Given the description of an element on the screen output the (x, y) to click on. 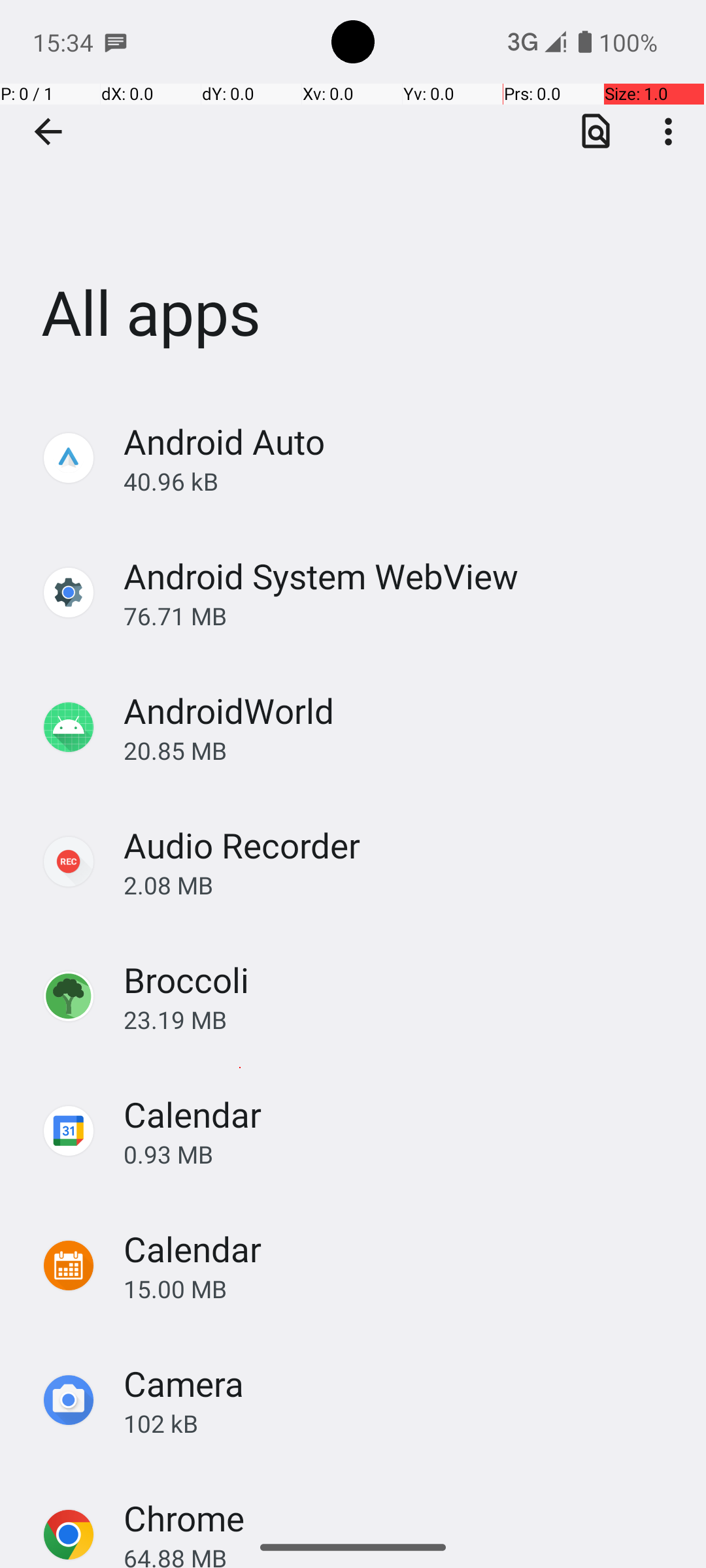
All apps Element type: android.widget.FrameLayout (353, 195)
Android Auto Element type: android.widget.TextView (223, 441)
40.96 kB Element type: android.widget.TextView (400, 480)
Android System WebView Element type: android.widget.TextView (320, 575)
76.71 MB Element type: android.widget.TextView (400, 615)
AndroidWorld Element type: android.widget.TextView (228, 710)
20.85 MB Element type: android.widget.TextView (400, 750)
2.08 MB Element type: android.widget.TextView (400, 884)
23.19 MB Element type: android.widget.TextView (400, 1019)
0.93 MB Element type: android.widget.TextView (400, 1153)
15.00 MB Element type: android.widget.TextView (400, 1288)
Camera Element type: android.widget.TextView (183, 1383)
102 kB Element type: android.widget.TextView (400, 1422)
